Given the description of an element on the screen output the (x, y) to click on. 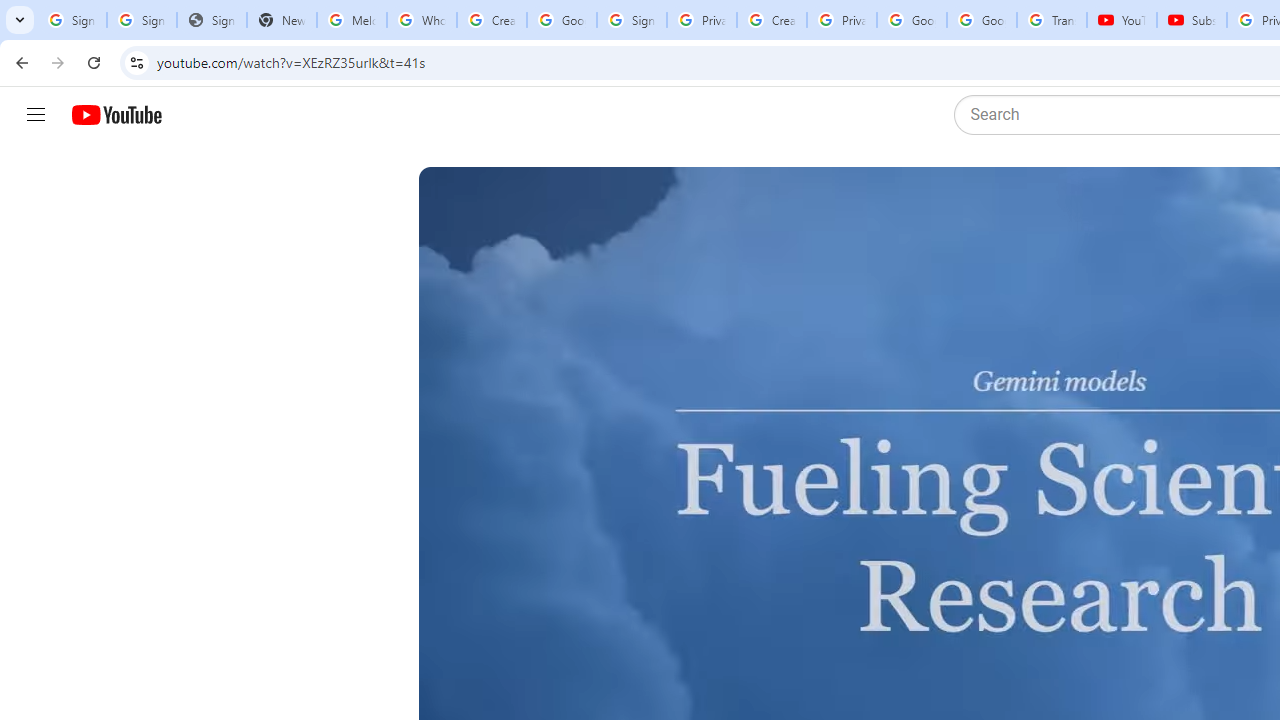
Who is my administrator? - Google Account Help (421, 20)
Sign in - Google Accounts (631, 20)
Create your Google Account (492, 20)
Google Account (982, 20)
Create your Google Account (772, 20)
YouTube (1121, 20)
